Given the description of an element on the screen output the (x, y) to click on. 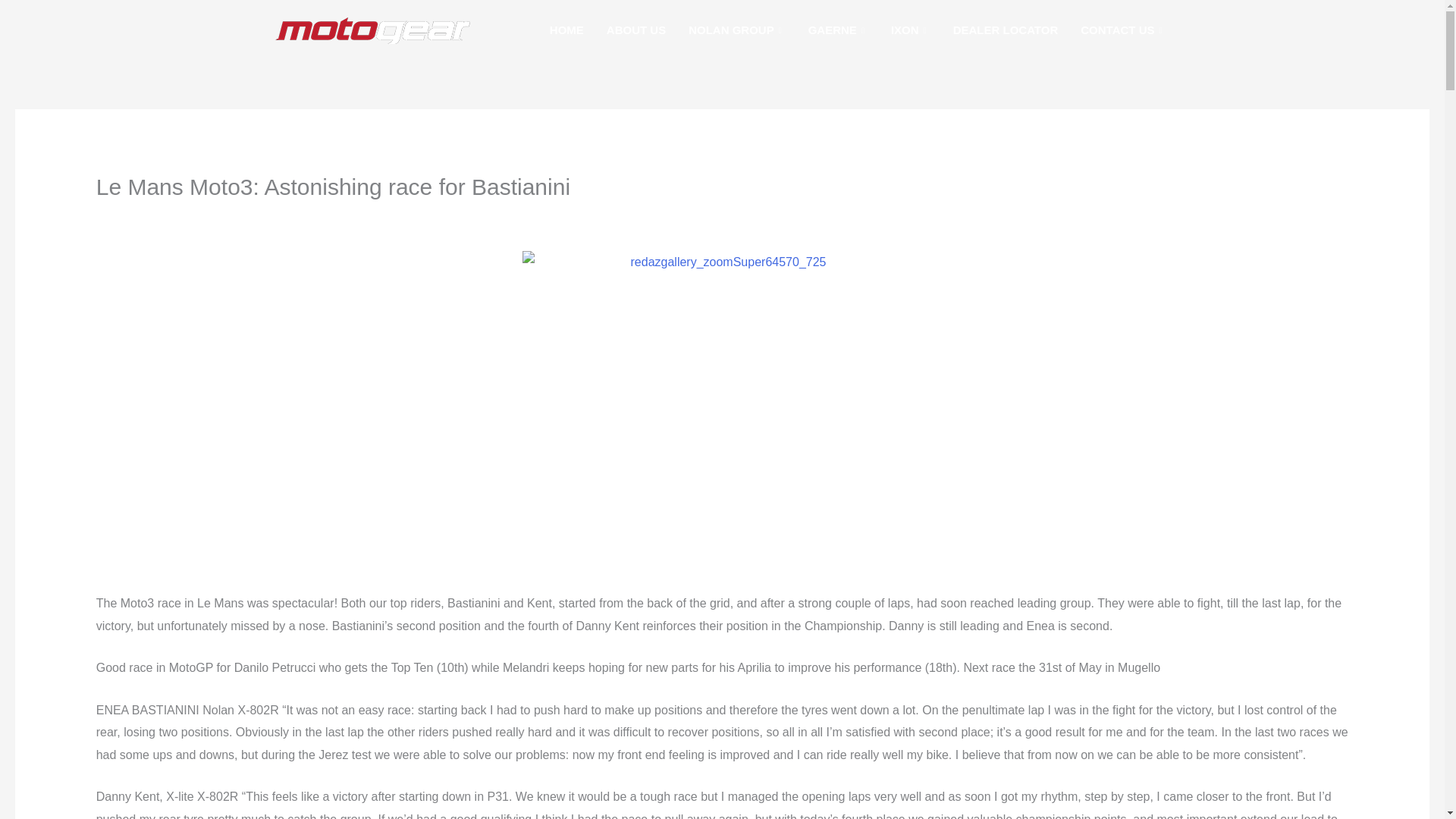
GAERNE (837, 29)
HOME (566, 29)
ABOUT US (636, 29)
NOLAN GROUP (736, 29)
View all posts by admin (327, 216)
